Given the description of an element on the screen output the (x, y) to click on. 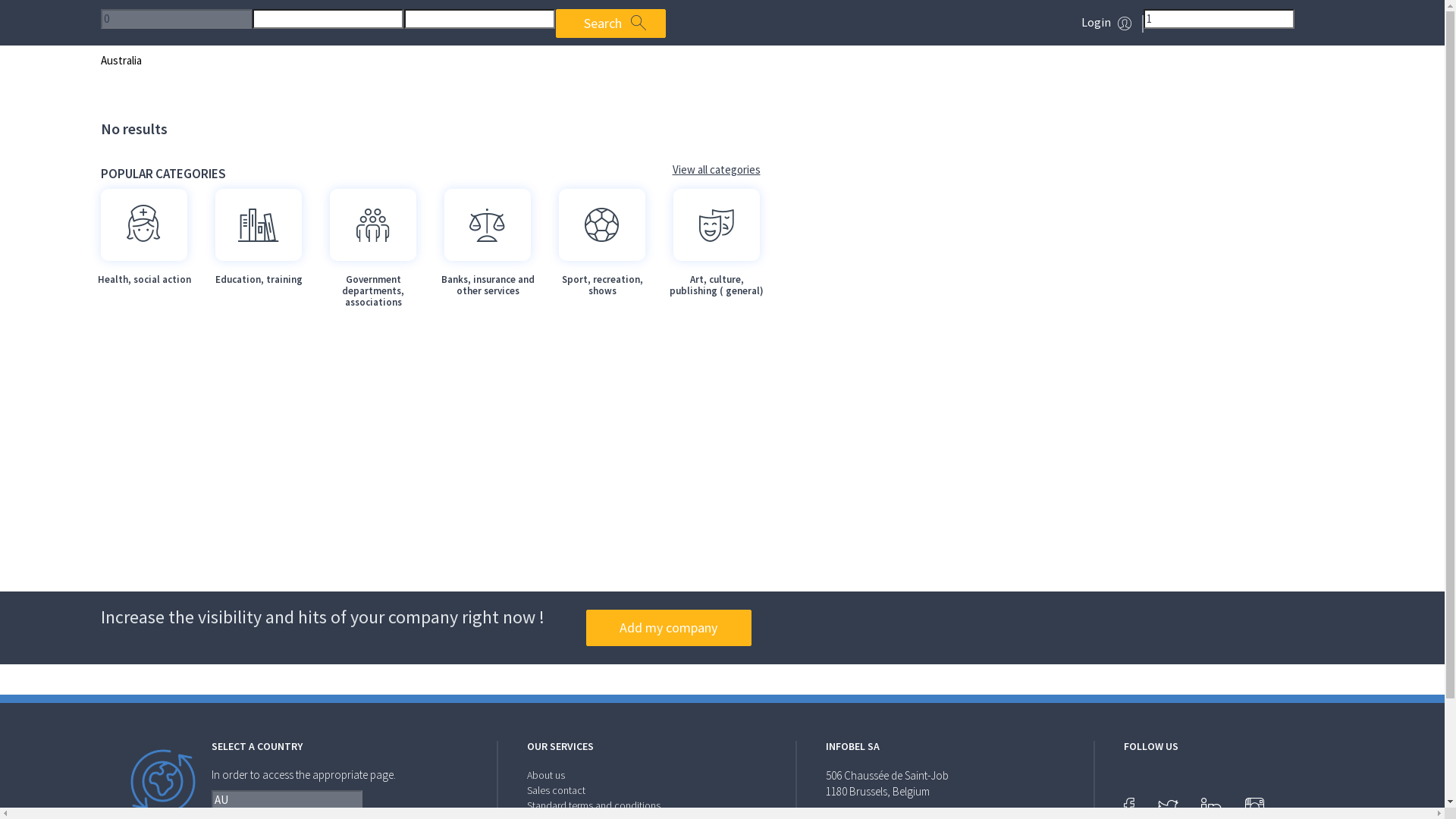
Tweeter Element type: hover (1167, 806)
Australia Element type: text (120, 60)
Add my company Element type: text (667, 627)
health, social action Element type: text (143, 224)
sport, recreation, shows Element type: text (601, 224)
art, culture, publishing ( general) Element type: text (716, 224)
government departments, associations Element type: text (372, 224)
banks, insurance and other services Element type: text (487, 224)
education, training Element type: text (258, 224)
Instagram Element type: hover (1254, 804)
LinkedIN Element type: hover (1211, 804)
Search Element type: text (610, 23)
Facebook Element type: hover (1128, 804)
Sales contact Element type: text (556, 790)
Standard terms and conditions Element type: text (593, 805)
Login Element type: text (1095, 21)
About us Element type: text (545, 774)
